Given the description of an element on the screen output the (x, y) to click on. 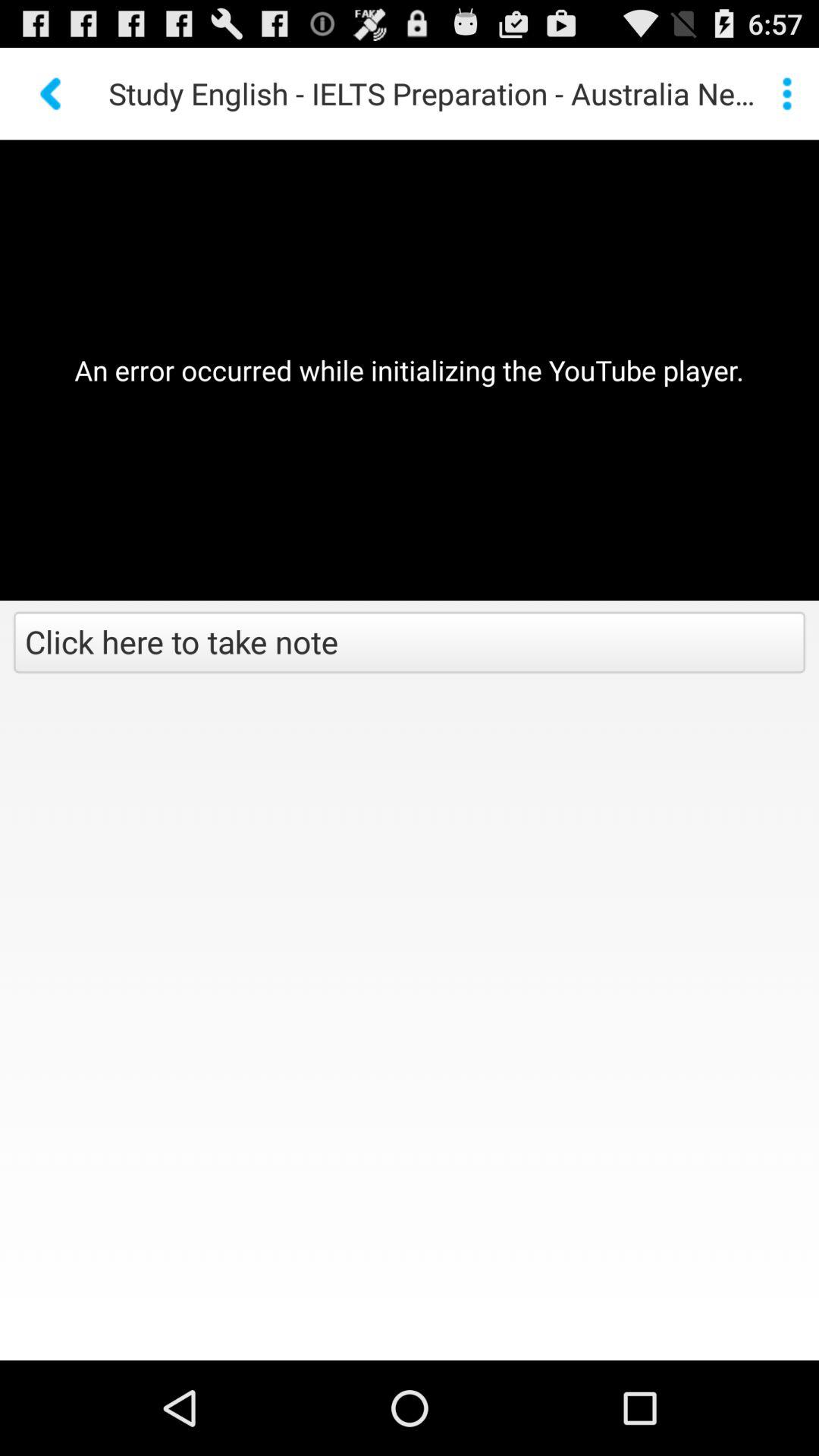
previous button (52, 93)
